Given the description of an element on the screen output the (x, y) to click on. 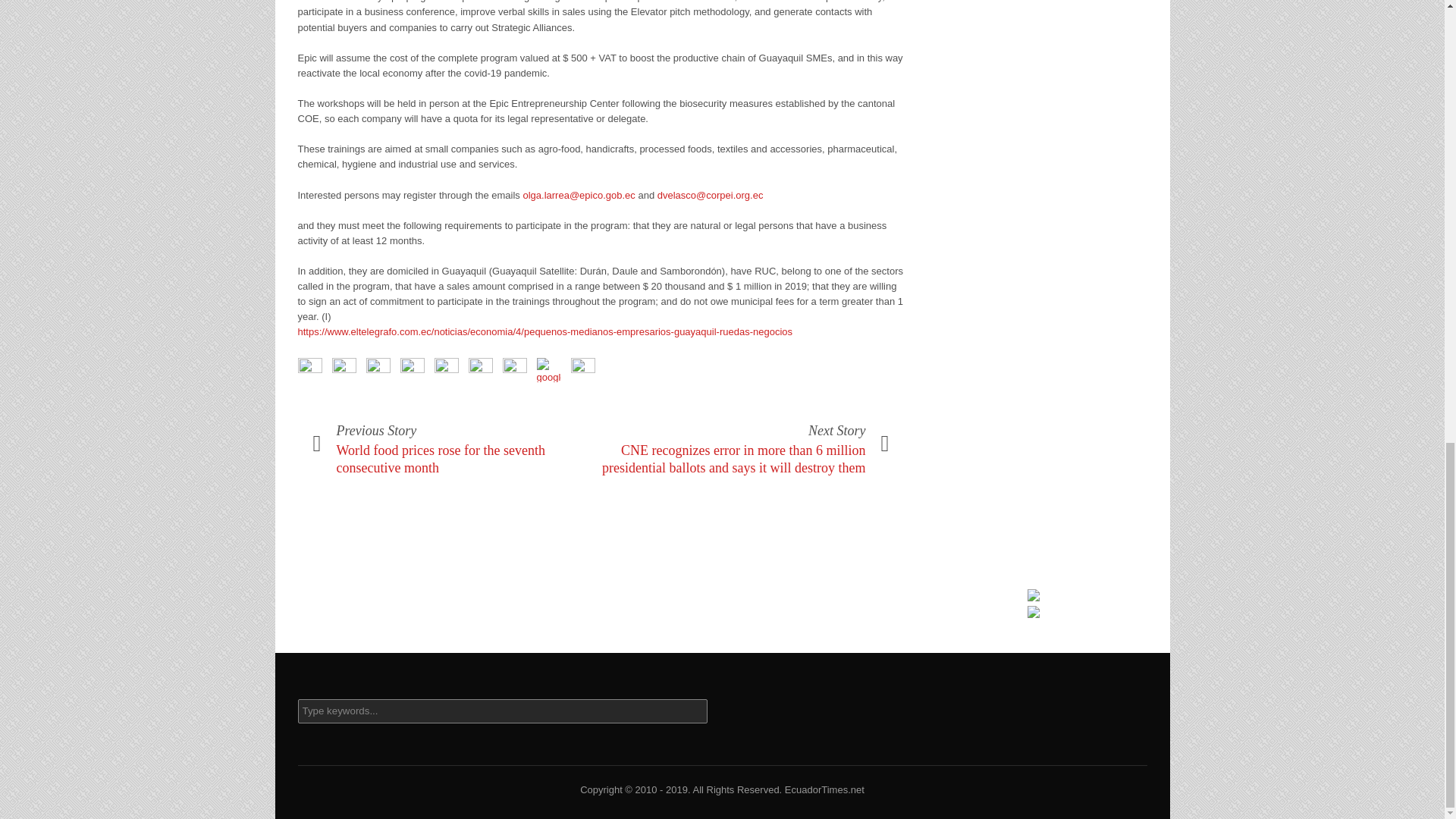
Type keywords... (501, 711)
World food prices rose for the seventh consecutive month (440, 459)
